Given the description of an element on the screen output the (x, y) to click on. 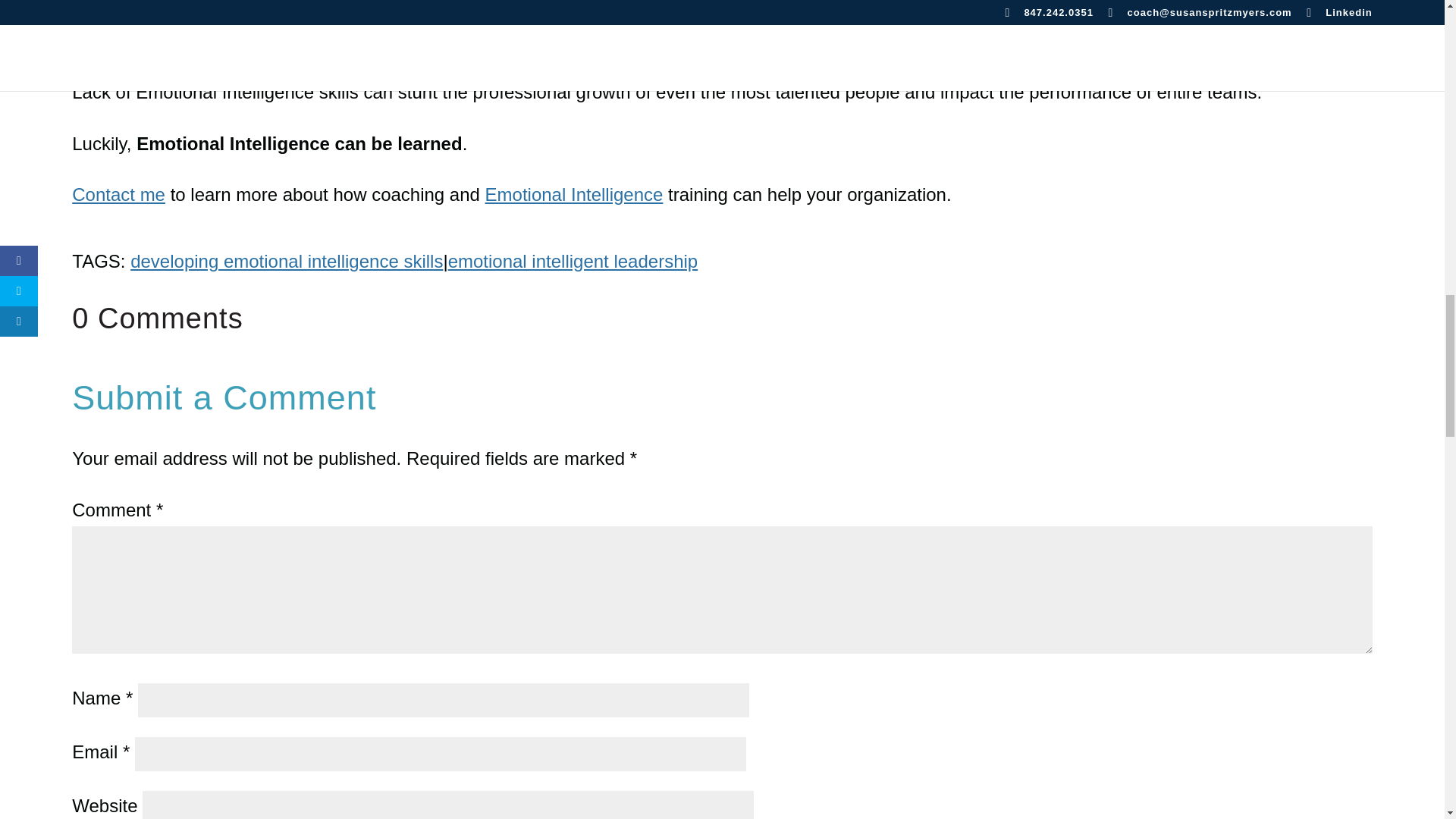
Emotional Intelligence (573, 194)
developing emotional intelligence skills (286, 260)
Contact me (118, 194)
emotional intelligent leadership (573, 260)
